Given the description of an element on the screen output the (x, y) to click on. 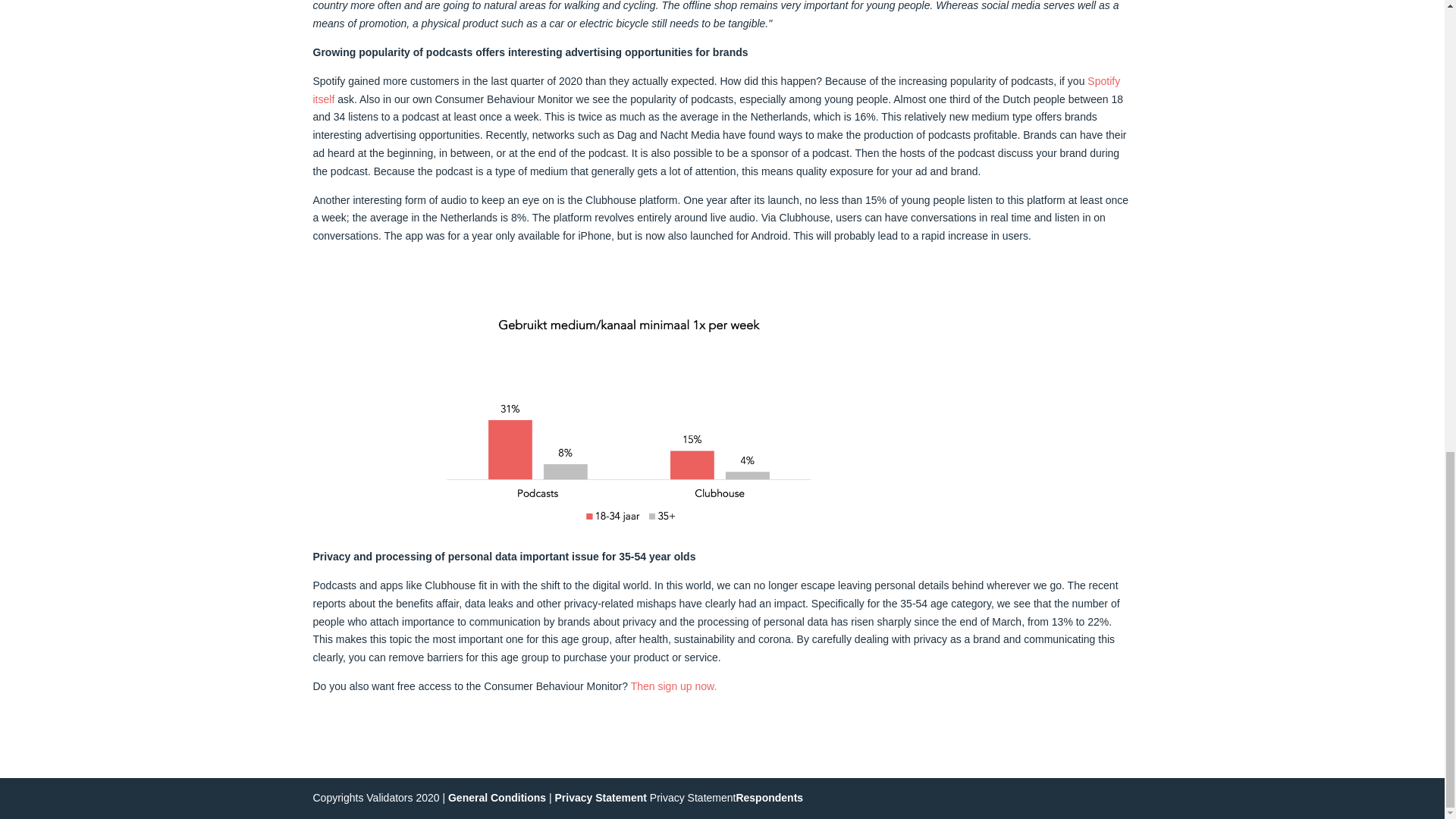
Privacy Statement (600, 797)
Respondents (769, 797)
General Conditions (497, 797)
GrafiekMC20mei (628, 420)
Spotify itself (716, 90)
Then sign up now. (673, 686)
